Given the description of an element on the screen output the (x, y) to click on. 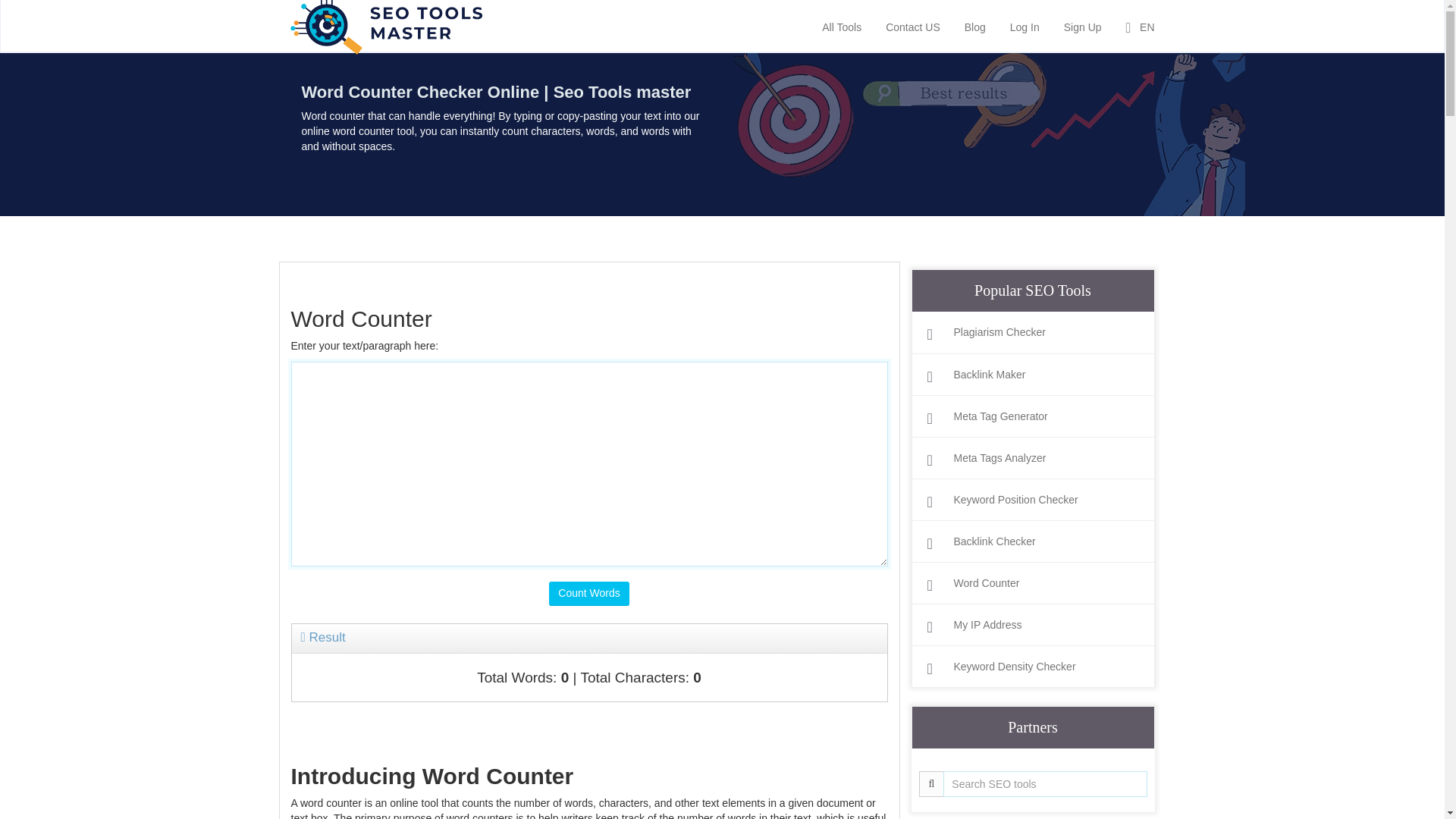
My IP Address (1031, 624)
  EN (1140, 25)
All Tools (841, 25)
Plagiarism Checker (1031, 332)
Contact US (913, 25)
Log In (1024, 25)
Keyword Position Checker (1031, 499)
Blog (975, 25)
Meta Tags Analyzer (1031, 458)
Count Words (588, 593)
Keyword Density Checker (1031, 666)
Sign Up (1082, 25)
Backlink Checker (1031, 541)
Backlink Maker (1031, 374)
Meta Tag Generator (1031, 416)
